Given the description of an element on the screen output the (x, y) to click on. 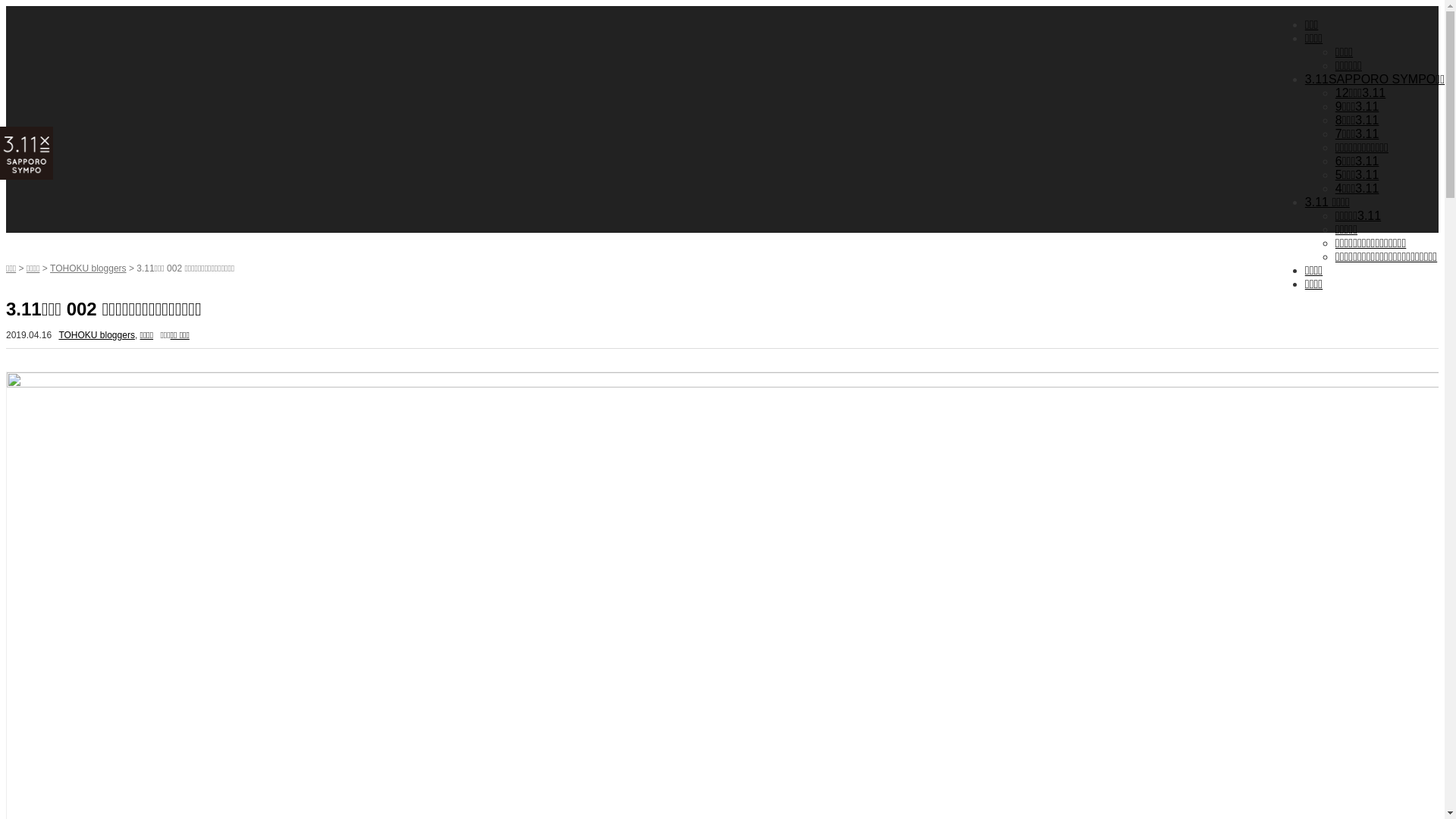
TOHOKU bloggers Element type: text (96, 334)
TOHOKU bloggers Element type: text (87, 268)
